Given the description of an element on the screen output the (x, y) to click on. 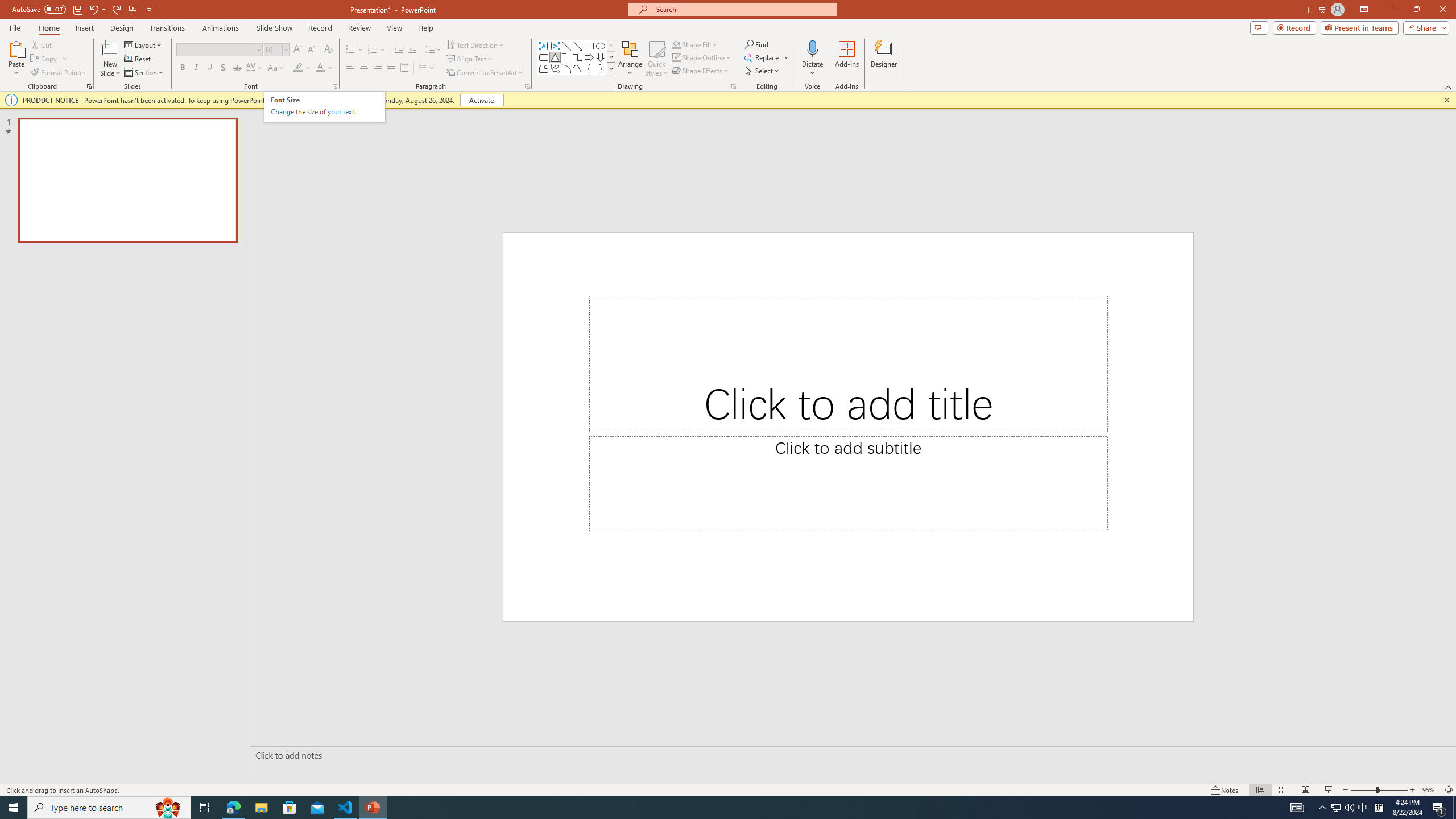
Paragraph... (645, 128)
Send Backward (818, 92)
2304.09121v3.pdf (1275, 26)
Bring Forward (763, 92)
Xftp 7 (98, 405)
Spacing After (606, 111)
Editing (1355, 48)
Page 1 content (720, 437)
2301.12597v3.pdf (1405, 178)
Line Numbers (303, 91)
Selection Pane... (870, 92)
